Given the description of an element on the screen output the (x, y) to click on. 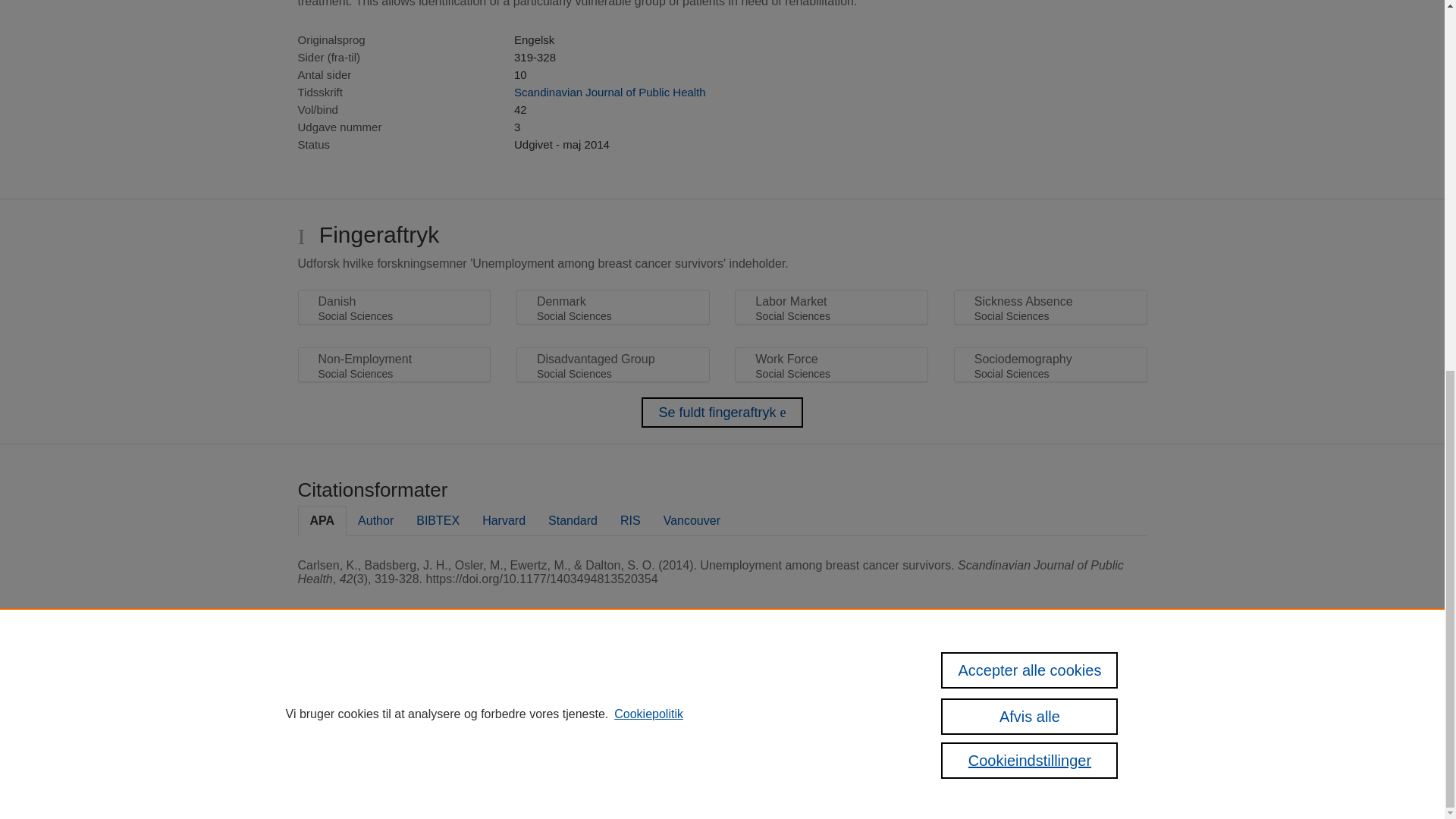
Pure (477, 685)
Scopus (511, 685)
Scandinavian Journal of Public Health (609, 91)
Se fuldt fingeraftryk (722, 412)
